Given the description of an element on the screen output the (x, y) to click on. 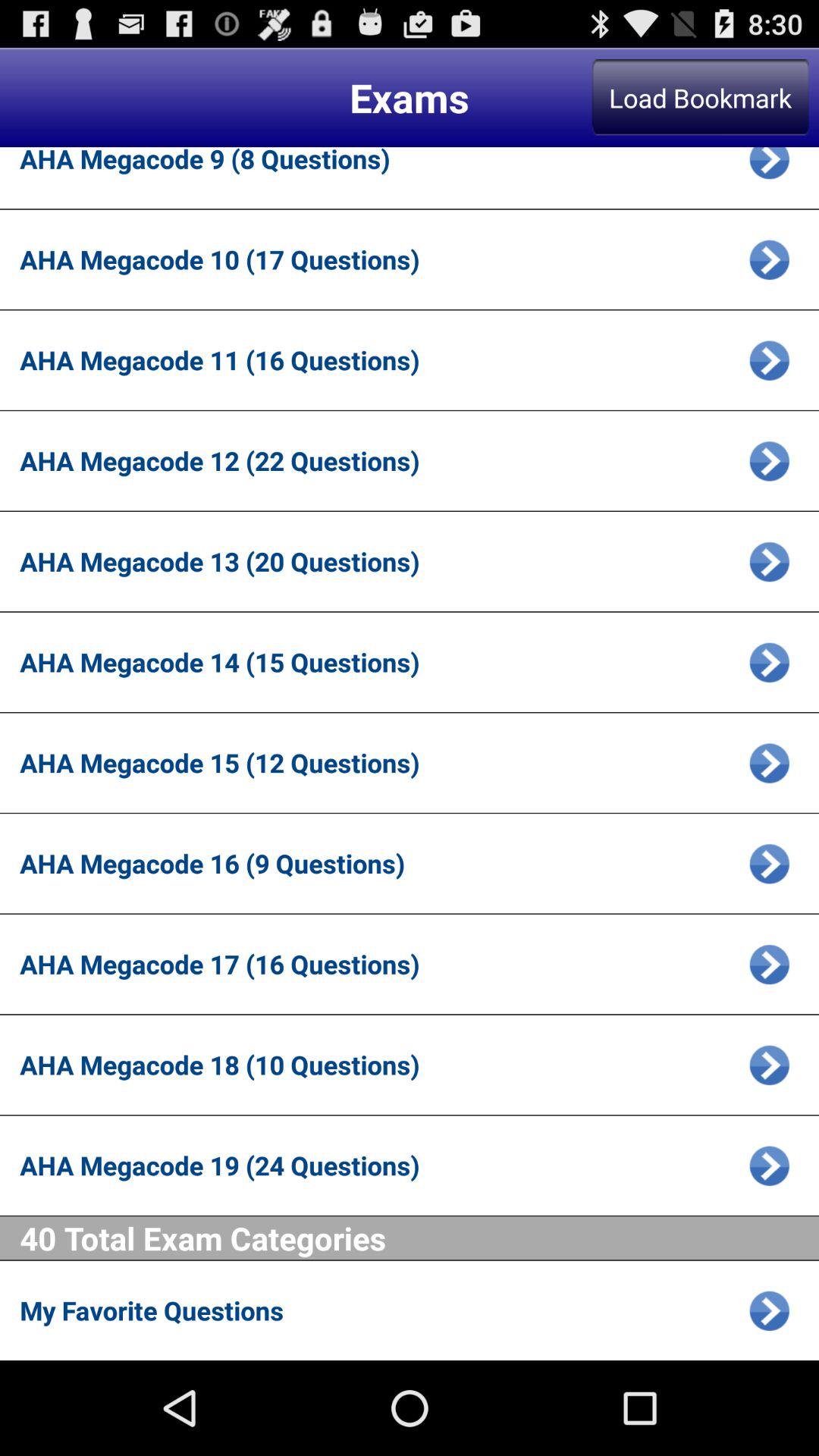
click my favorite questions app (379, 1310)
